Given the description of an element on the screen output the (x, y) to click on. 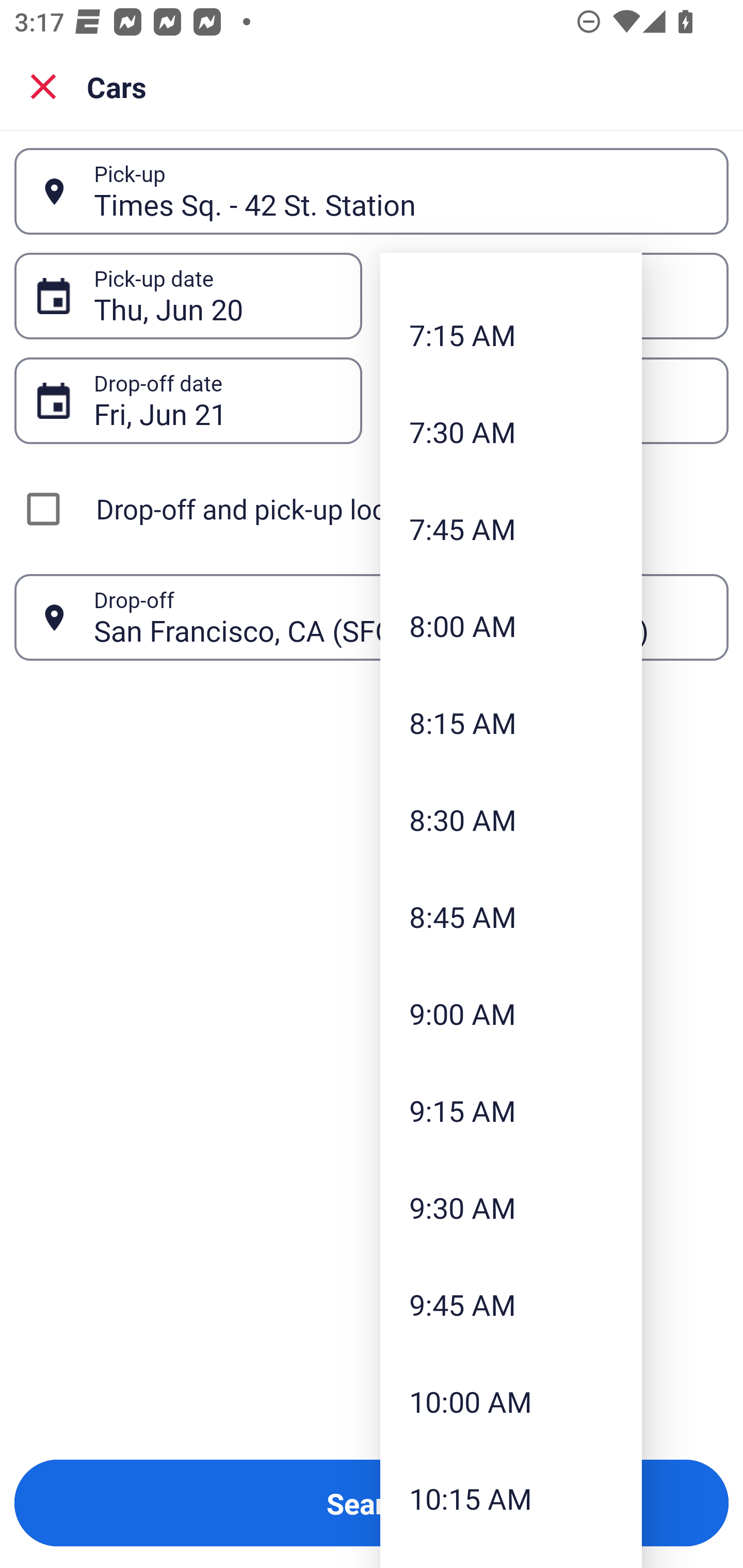
7:15 AM (510, 334)
7:30 AM (510, 430)
7:45 AM (510, 528)
8:00 AM (510, 625)
8:15 AM (510, 722)
8:30 AM (510, 819)
8:45 AM (510, 916)
9:00 AM (510, 1012)
9:15 AM (510, 1109)
9:30 AM (510, 1206)
9:45 AM (510, 1304)
10:00 AM (510, 1401)
10:15 AM (510, 1498)
